Given the description of an element on the screen output the (x, y) to click on. 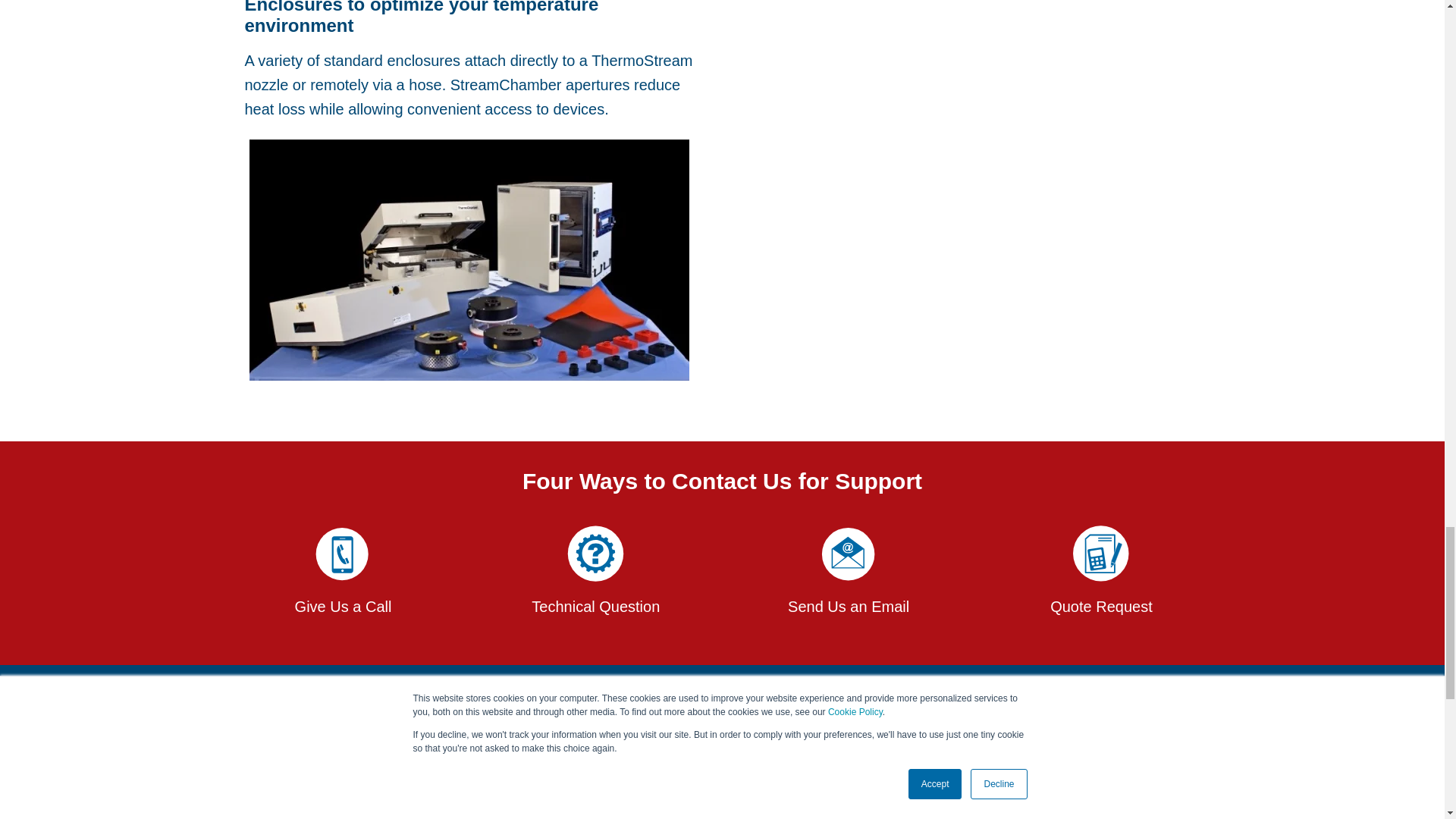
TECH QUESTION WHITE INTEST (595, 555)
Follow us on Facebook (1146, 796)
Follow us on Facebook (1012, 796)
EMAIL WHITE INTEST (848, 555)
Top Array (468, 259)
Follow us on LinkedIn (1055, 796)
Follow us on Facebook (1101, 796)
PHONE WHITE INTEST (342, 555)
